Given the description of an element on the screen output the (x, y) to click on. 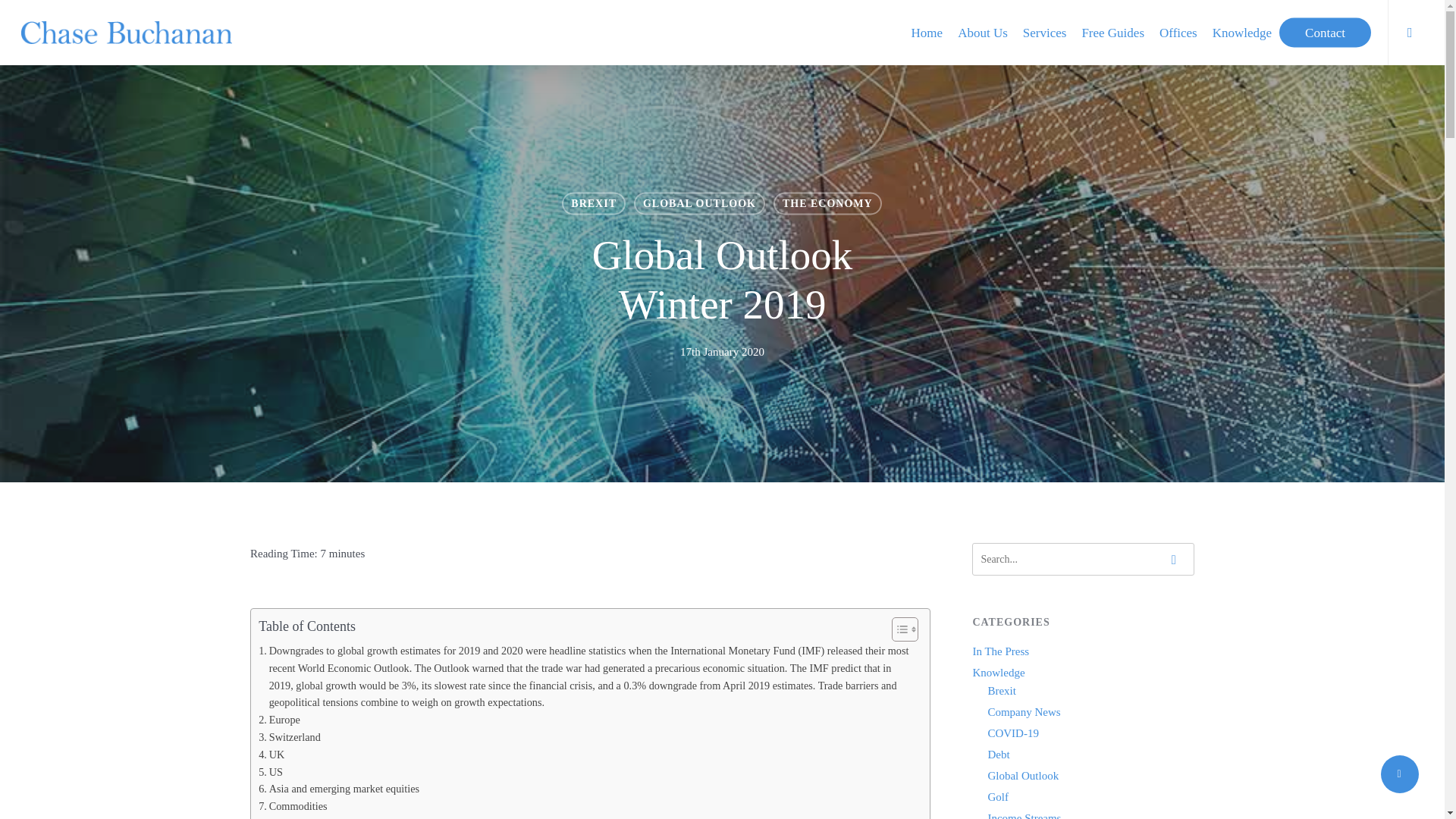
Commodities (292, 805)
Home (927, 32)
Search for: (1082, 558)
Switzerland (289, 737)
Europe (279, 719)
About Us (982, 32)
Looking ahead (296, 816)
US (270, 772)
UK (271, 754)
Asia and emerging market equities (339, 788)
